Given the description of an element on the screen output the (x, y) to click on. 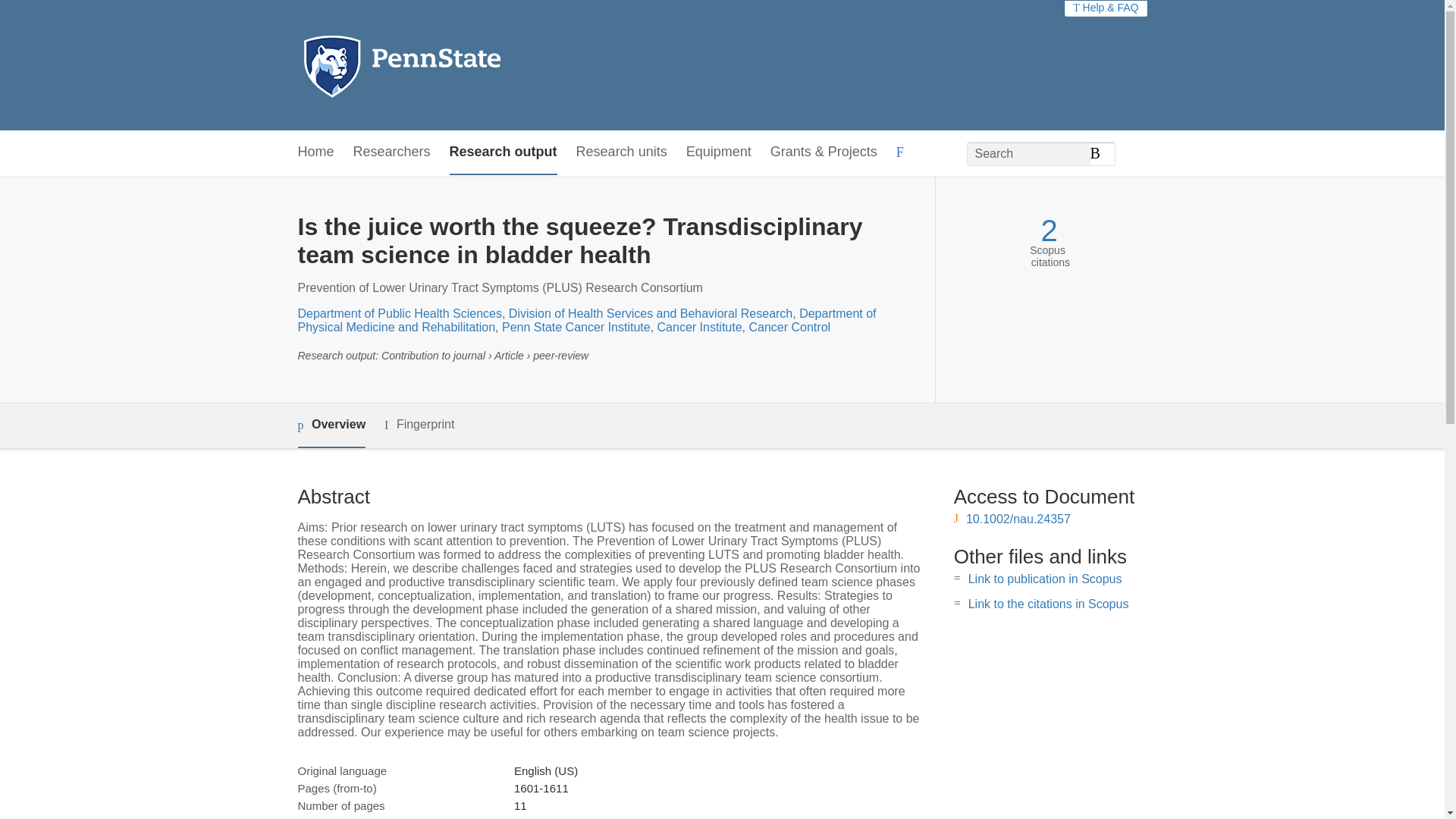
Link to the citations in Scopus (1048, 603)
Penn State Cancer Institute (576, 327)
Research units (621, 152)
Fingerprint (419, 424)
Research output (503, 152)
Researchers (391, 152)
Link to publication in Scopus (1045, 578)
Penn State Home (467, 65)
Overview (331, 425)
Division of Health Services and Behavioral Research (650, 313)
